Given the description of an element on the screen output the (x, y) to click on. 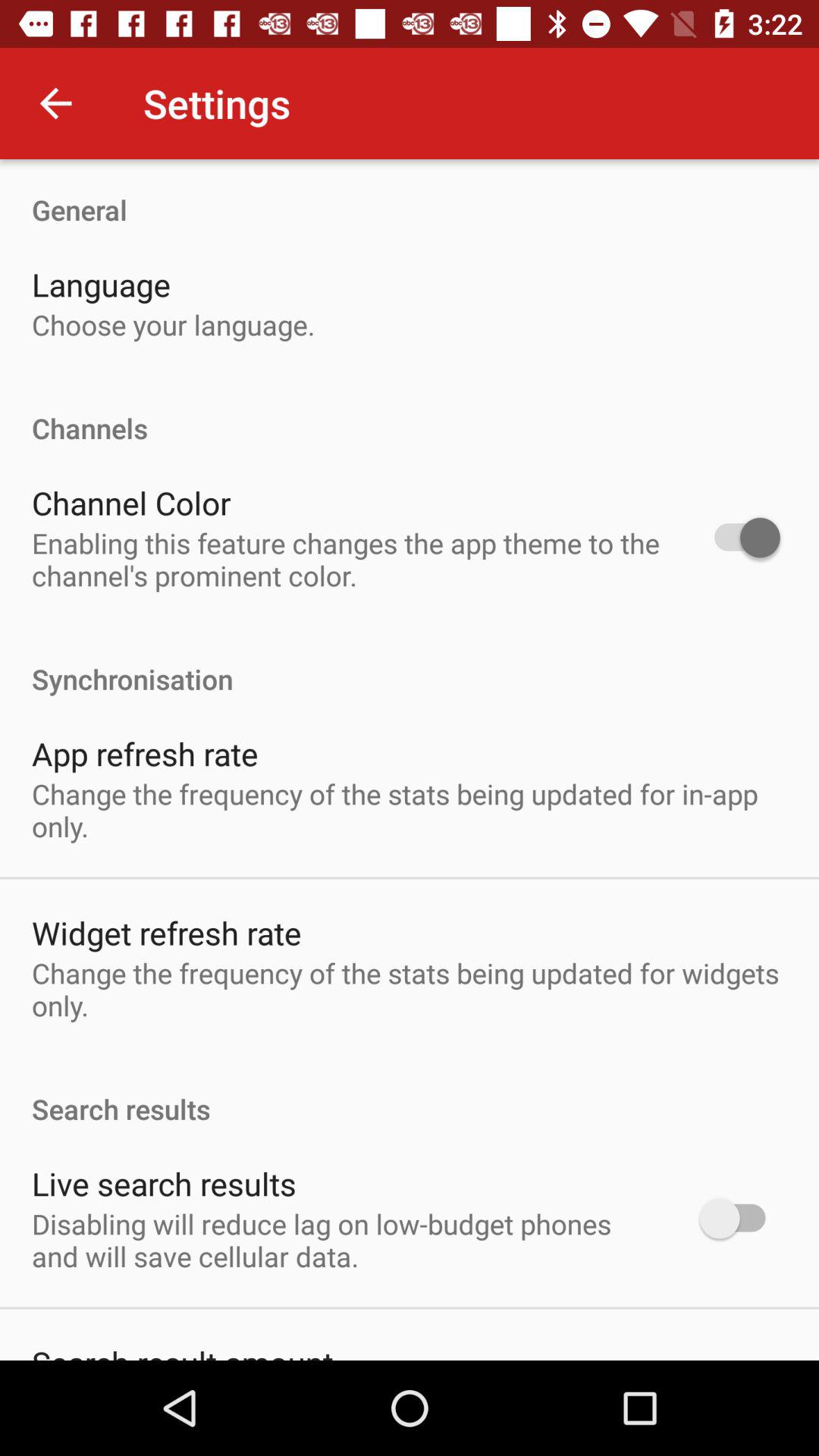
turn off the item above the general (55, 103)
